Given the description of an element on the screen output the (x, y) to click on. 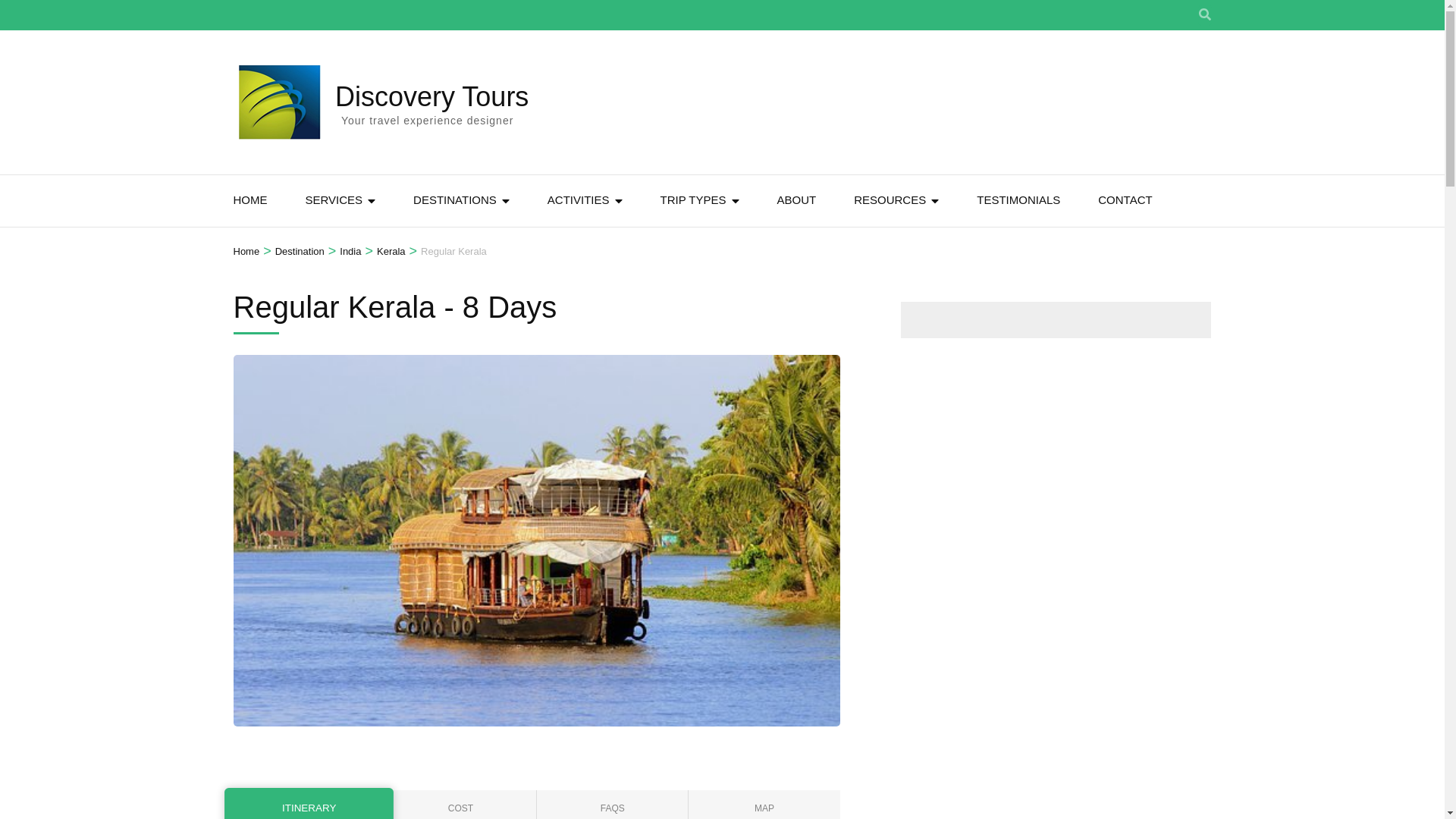
Discovery Tours (431, 95)
